Given the description of an element on the screen output the (x, y) to click on. 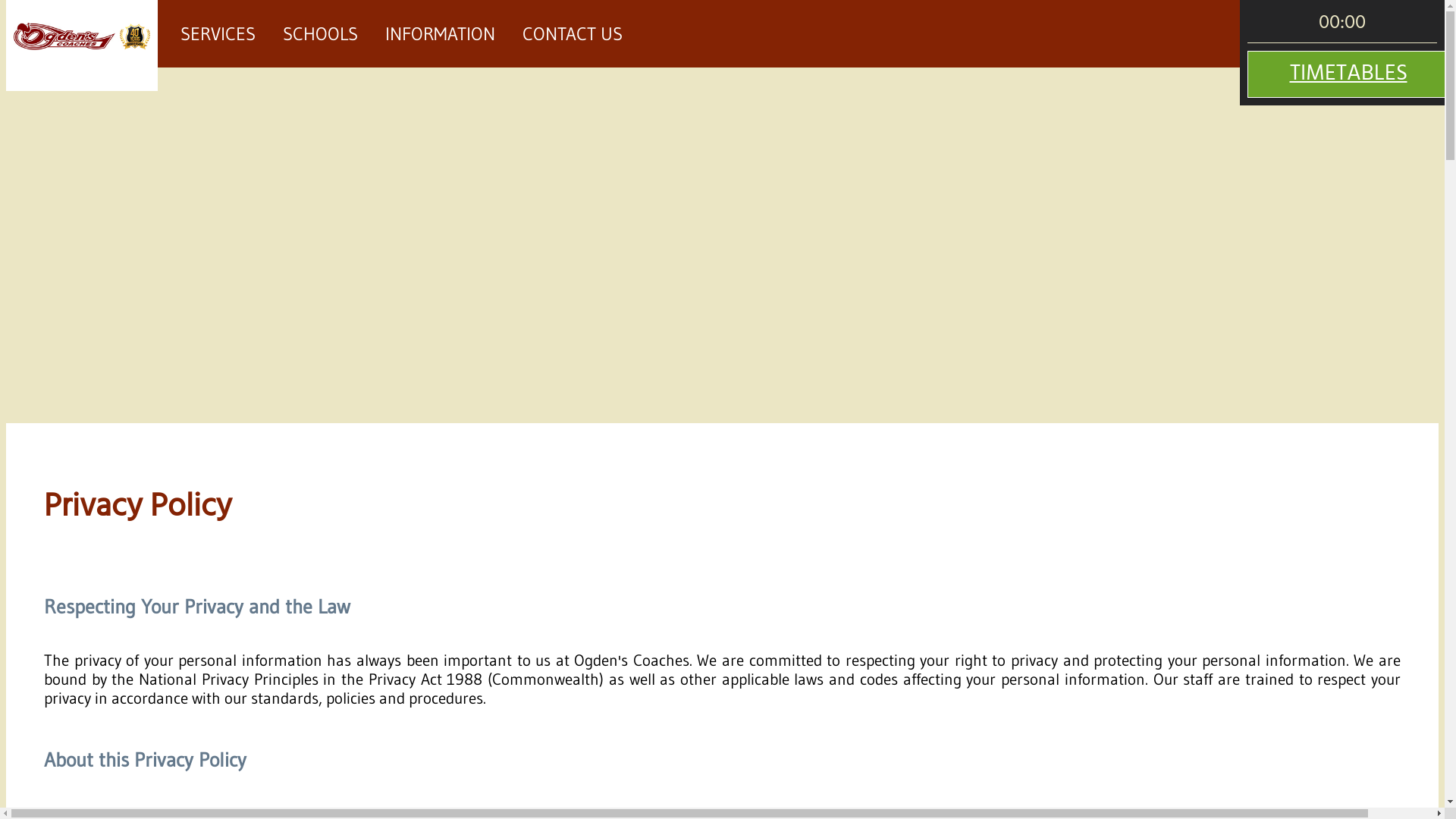
SCHOOLS Element type: text (320, 33)
INFORMATION Element type: text (439, 33)
TIMETABLES Element type: text (1348, 73)
CONTACT US Element type: text (572, 33)
SERVICES Element type: text (217, 33)
